Given the description of an element on the screen output the (x, y) to click on. 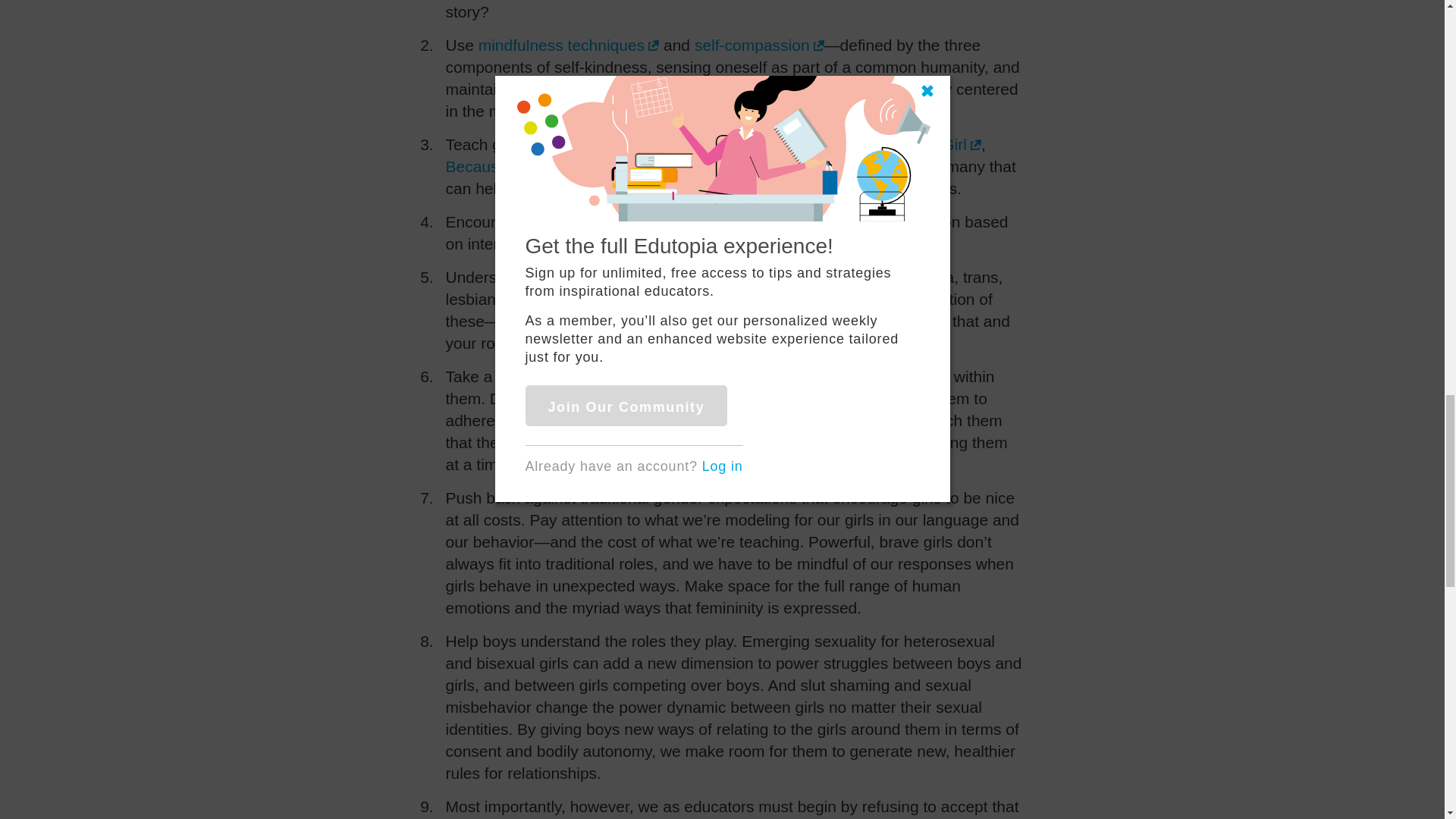
Fearlessly Girl (922, 144)
self-compassion (759, 45)
Girl Talk (645, 166)
Girls Inc. (758, 166)
dress codes (625, 375)
Because I Am a Girl (523, 166)
academic autonomy (690, 221)
mindfulness techniques (569, 45)
